Given the description of an element on the screen output the (x, y) to click on. 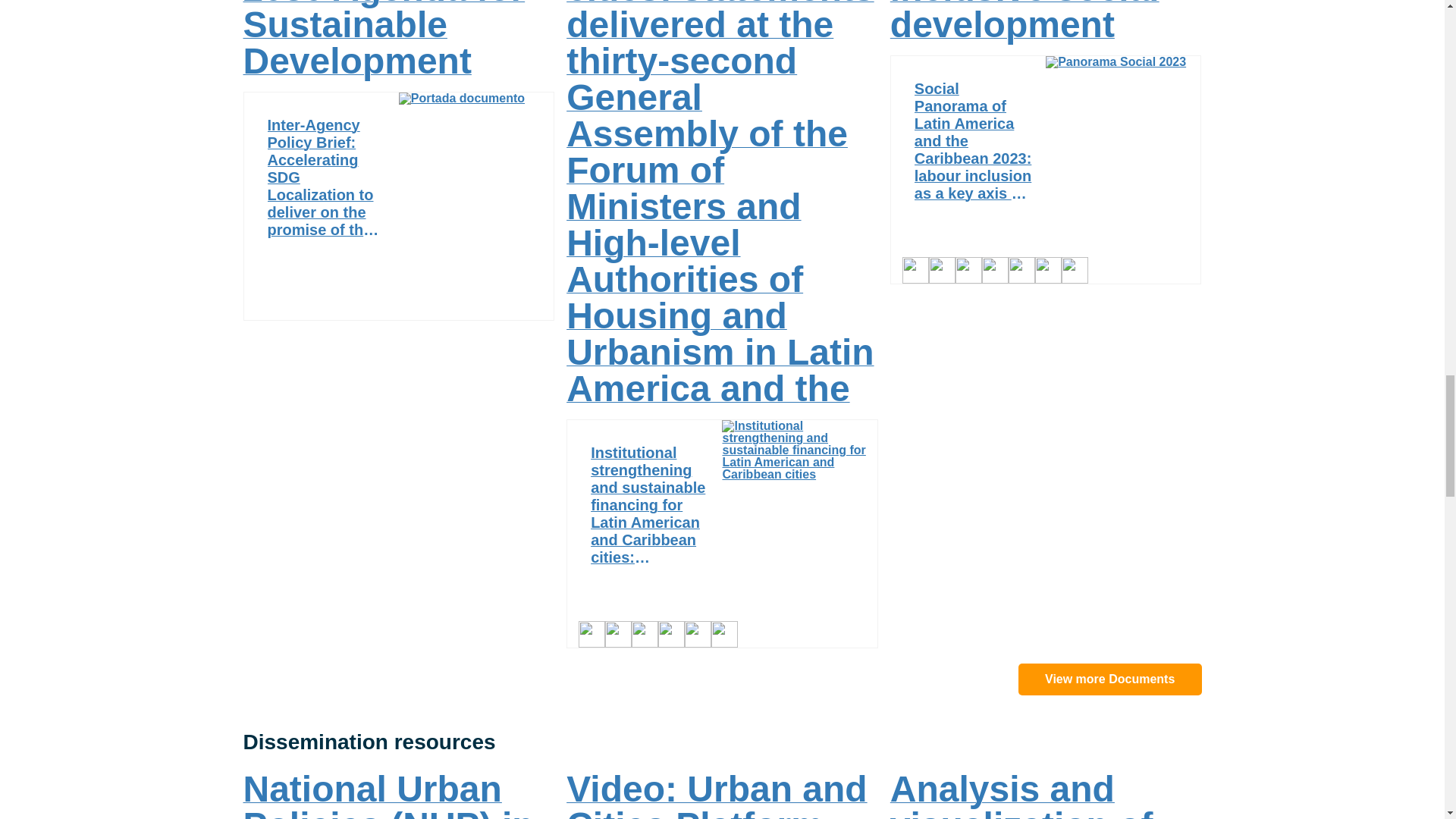
19. Transport and mobility (697, 633)
V. Urban ecology and environment (591, 633)
VI. Urban housing and basic services (671, 633)
15. Urban resilience (618, 633)
17. Cities and climate change and disaster risk management (644, 633)
20. Housing (724, 633)
I. Social cohesion and equity (915, 270)
